Given the description of an element on the screen output the (x, y) to click on. 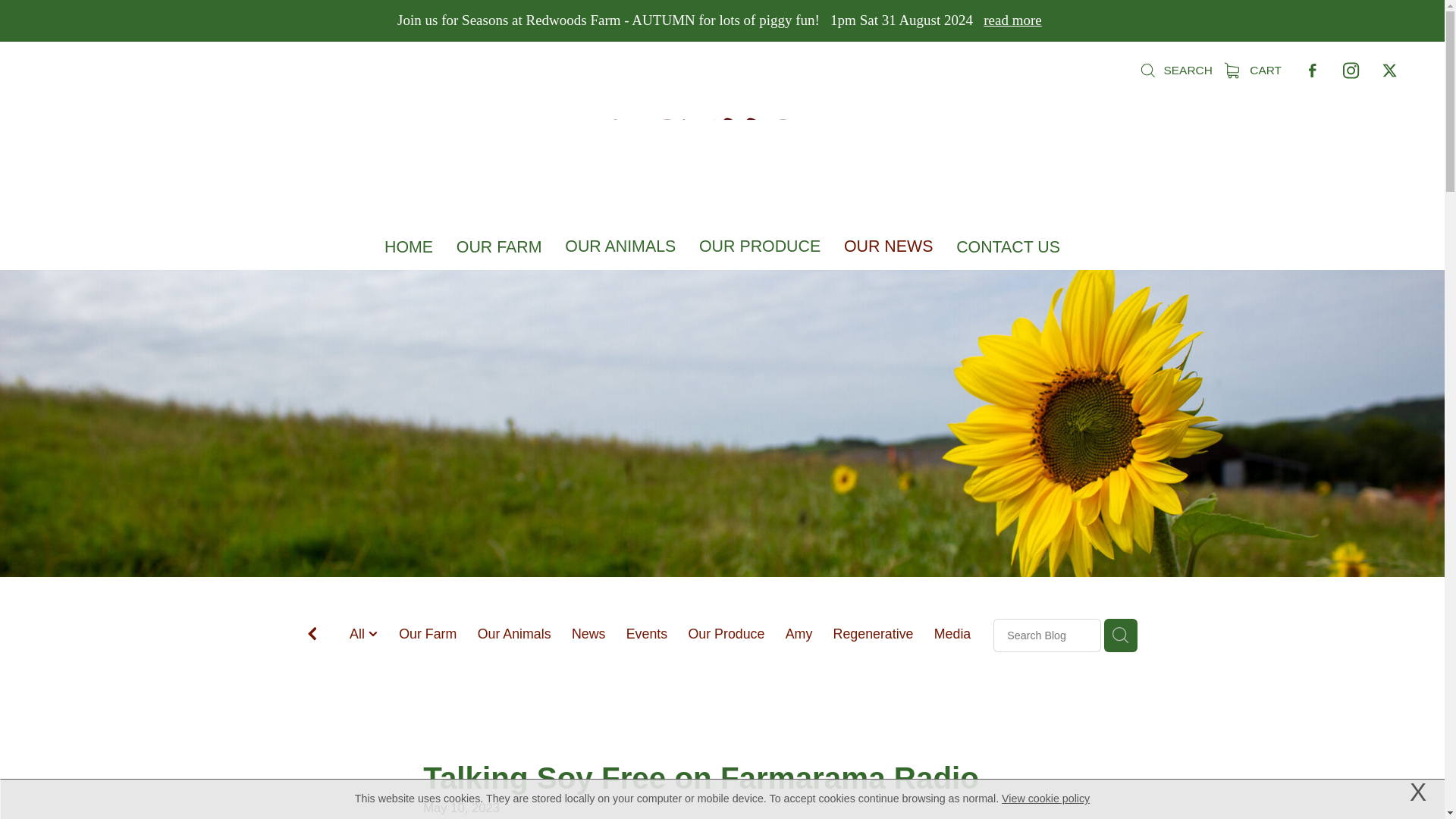
CART (1252, 69)
read more (1012, 19)
Our Animals (514, 634)
Media (952, 634)
Amy (799, 634)
OUR ANIMALS (619, 246)
Our Produce (725, 634)
CONTACT US (1007, 247)
All (358, 633)
OUR FARM (499, 247)
